Given the description of an element on the screen output the (x, y) to click on. 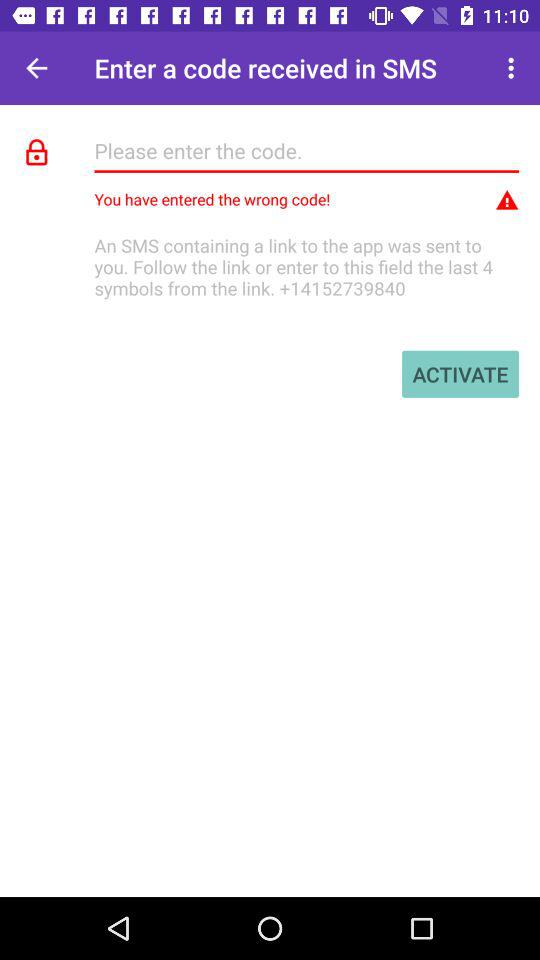
go back (36, 68)
